Given the description of an element on the screen output the (x, y) to click on. 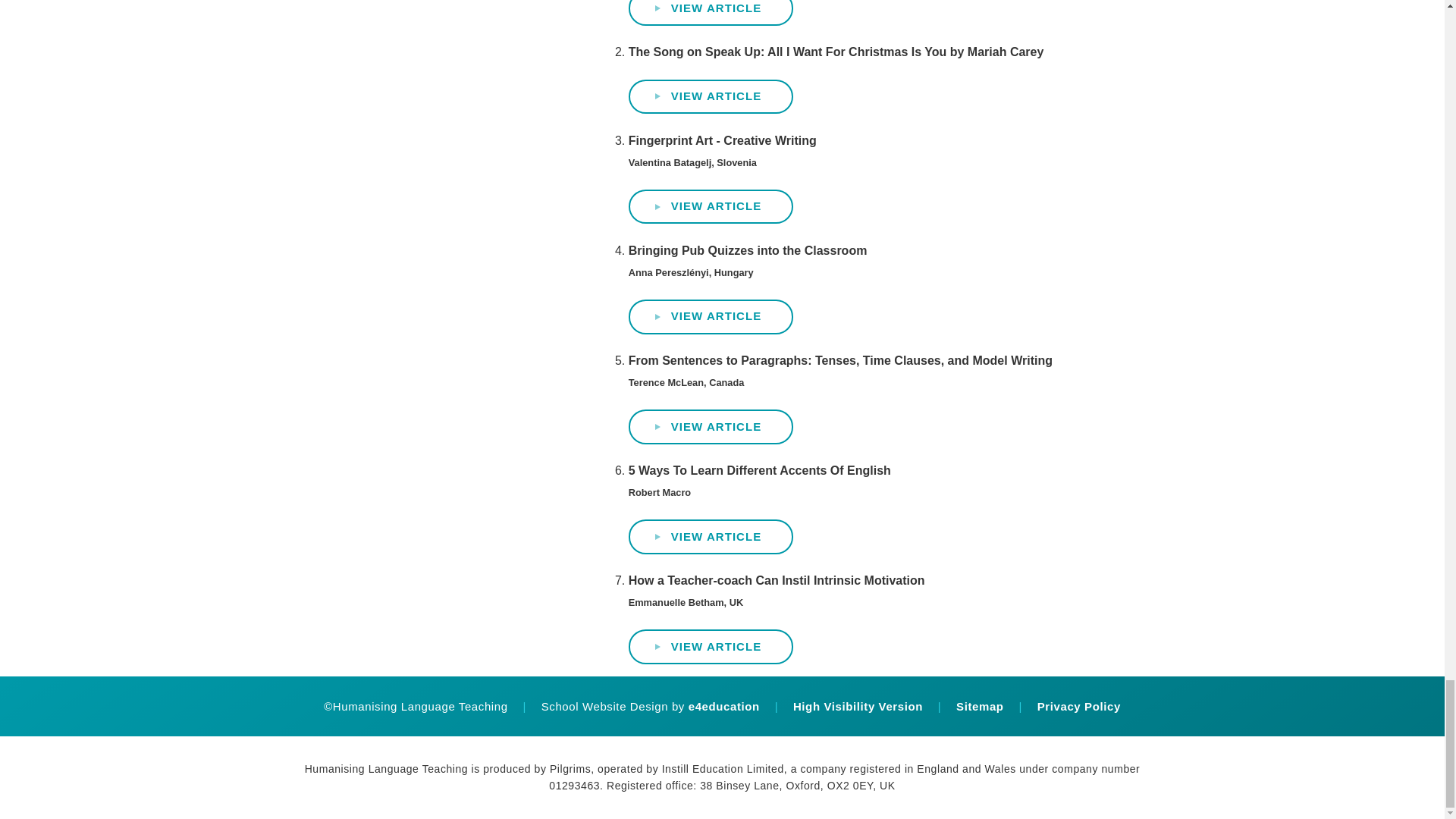
VIEW ARTICLE (710, 96)
VIEW ARTICLE (710, 316)
VIEW ARTICLE (710, 536)
VIEW ARTICLE (710, 206)
VIEW ARTICLE (710, 646)
VIEW ARTICLE (710, 12)
VIEW ARTICLE (710, 426)
